Given the description of an element on the screen output the (x, y) to click on. 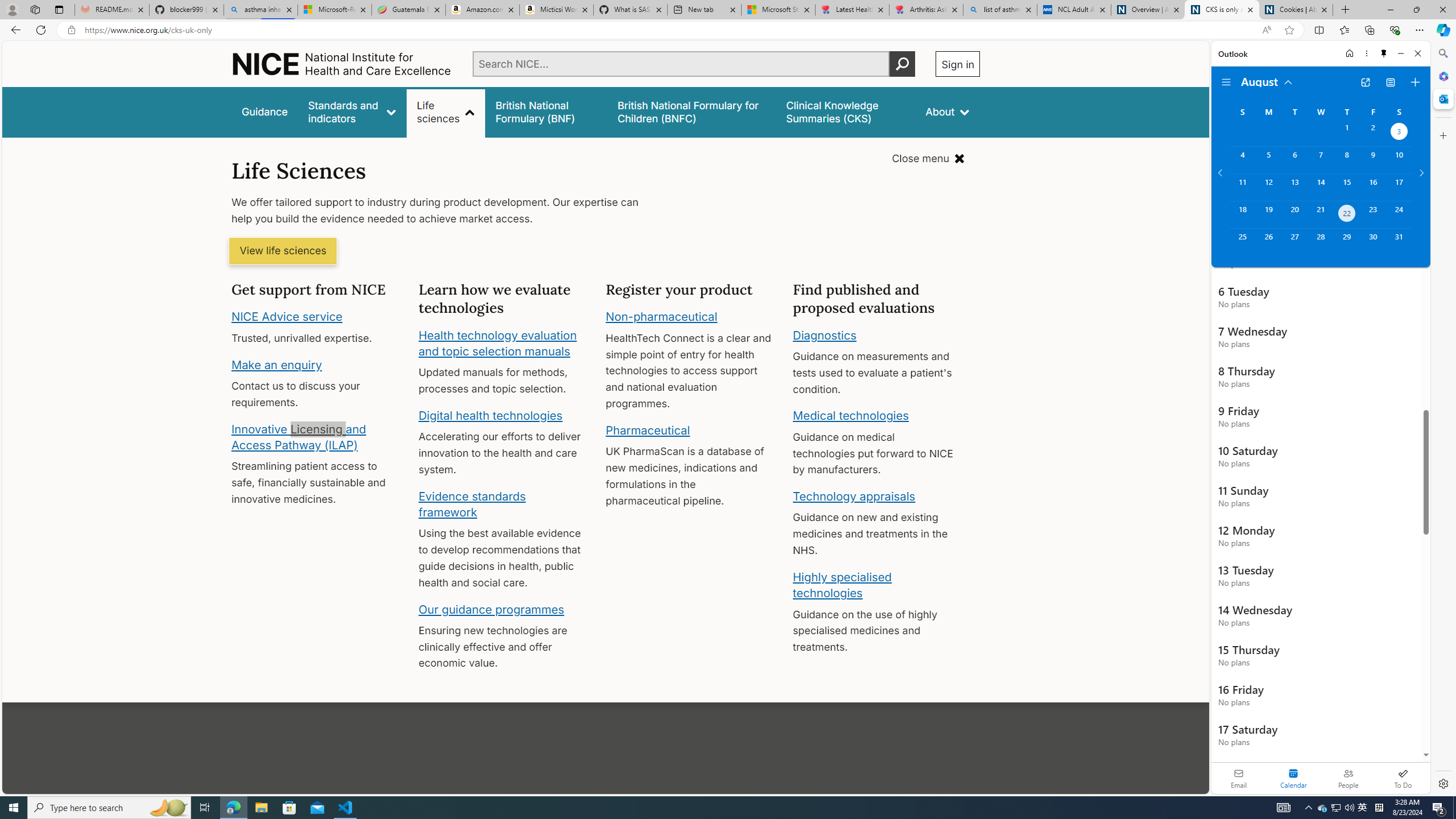
list of asthma inhalers uk - Search (1000, 9)
Pharmaceutical (647, 429)
Close Customize pane (1442, 135)
Tuesday, August 13, 2024.  (1294, 186)
Life sciences (446, 111)
NCL Adult Asthma Inhaler Choice Guideline (1073, 9)
